Given the description of an element on the screen output the (x, y) to click on. 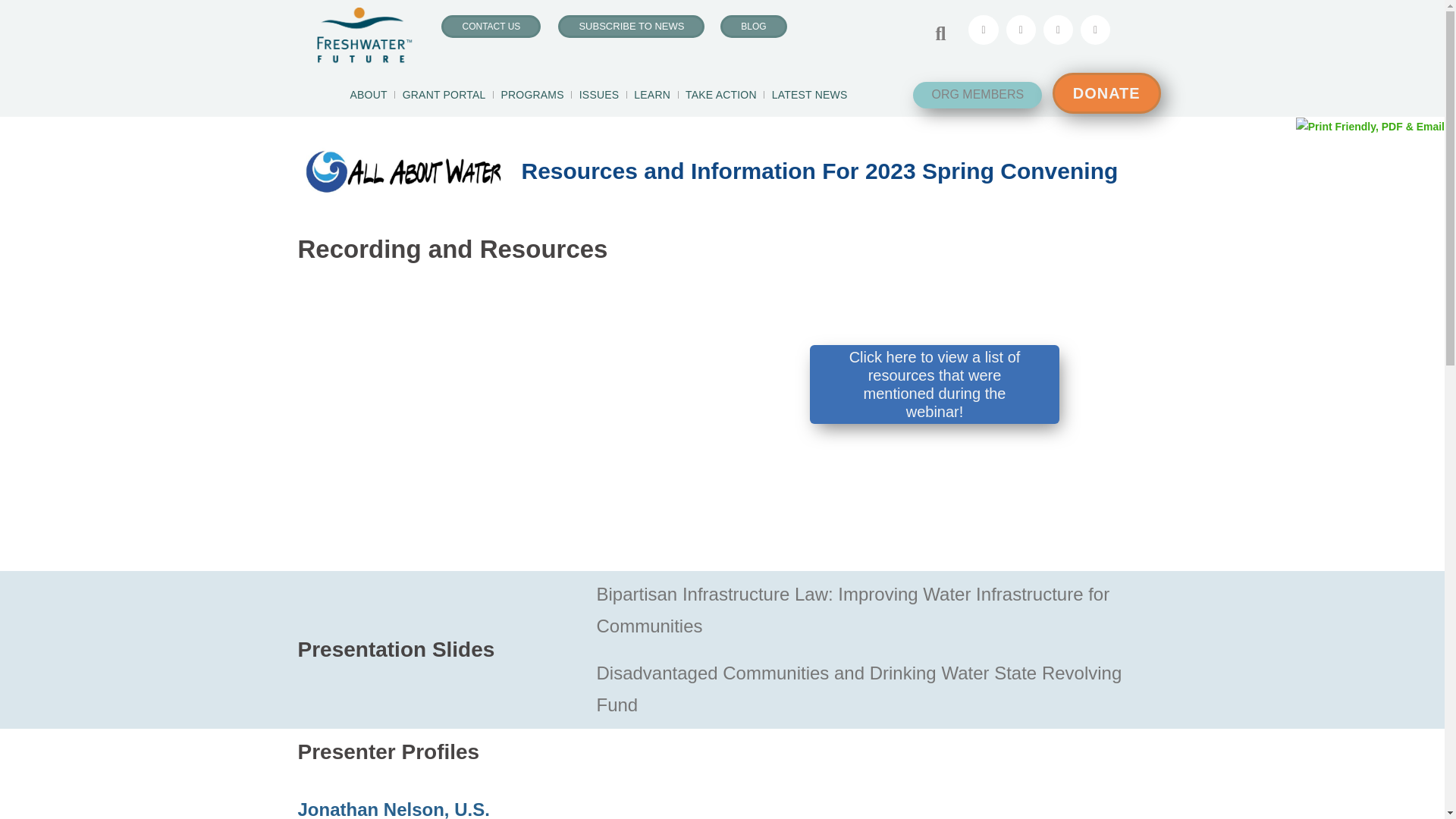
PROGRAMS (531, 94)
GRANT PORTAL (443, 94)
BLOG (753, 26)
SUBSCRIBE TO NEWS (630, 26)
ABOUT (368, 94)
CONTACT US (490, 26)
